Given the description of an element on the screen output the (x, y) to click on. 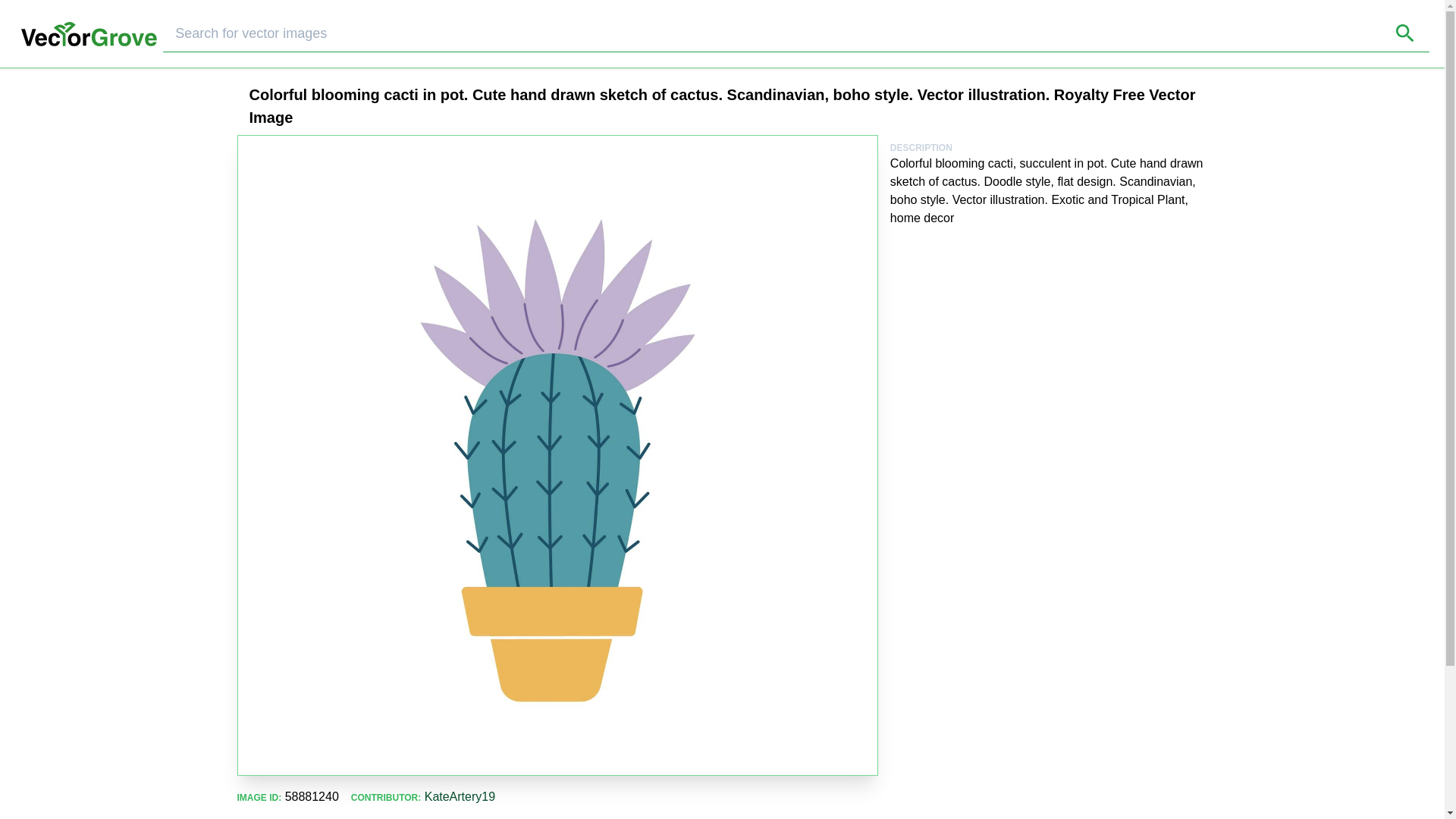
KateArtery19 (460, 796)
